Given the description of an element on the screen output the (x, y) to click on. 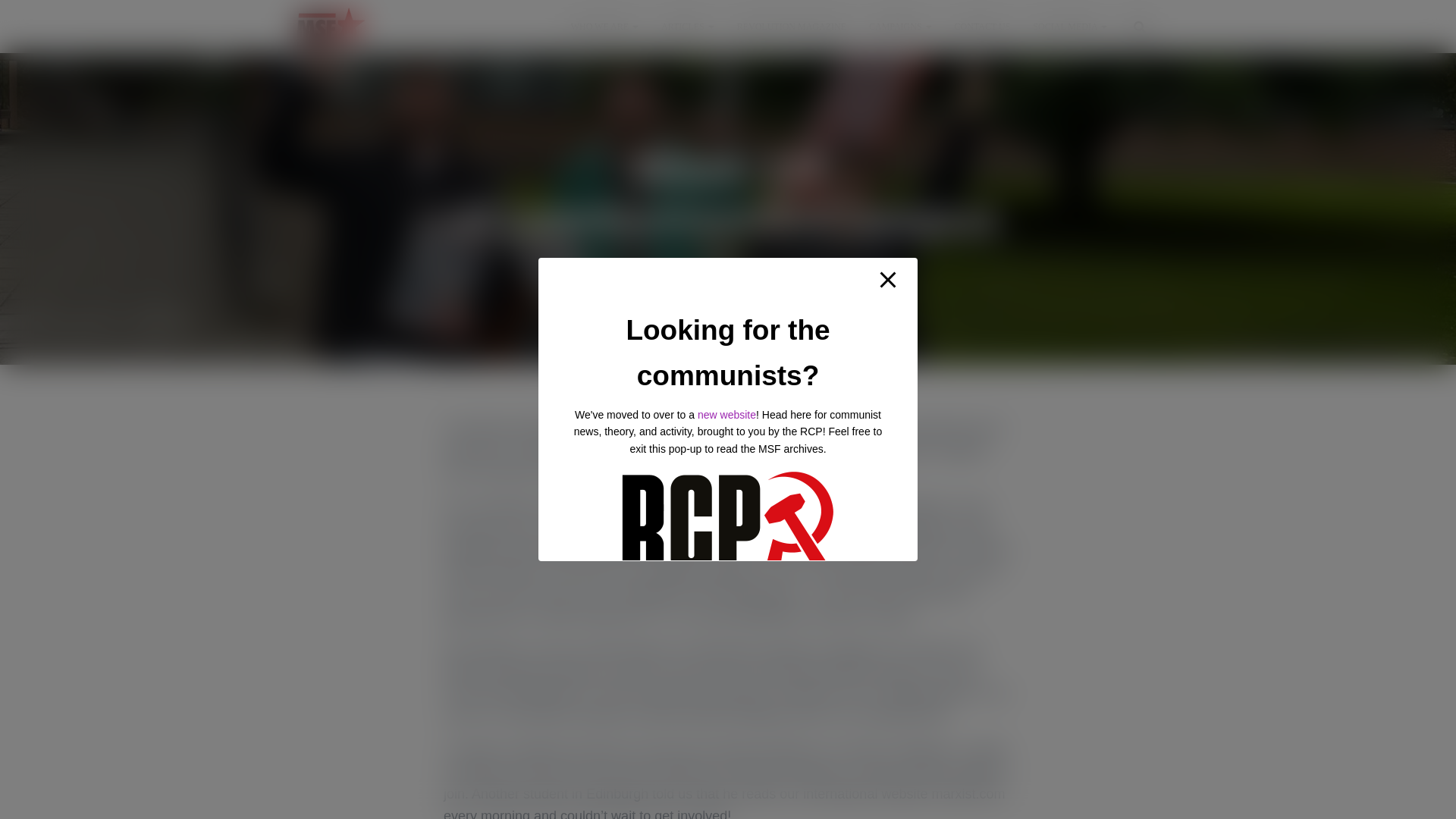
REVOLUTION MAGAZINE (791, 26)
SOCIAL MEDIA (1070, 26)
Marxist Student Federation (330, 26)
CAMPAIGNS (900, 26)
Who we are (604, 26)
Articles (687, 26)
CONTACT US (982, 26)
ARTICLES (687, 26)
Search (3, 16)
WHO WE ARE (604, 26)
